Given the description of an element on the screen output the (x, y) to click on. 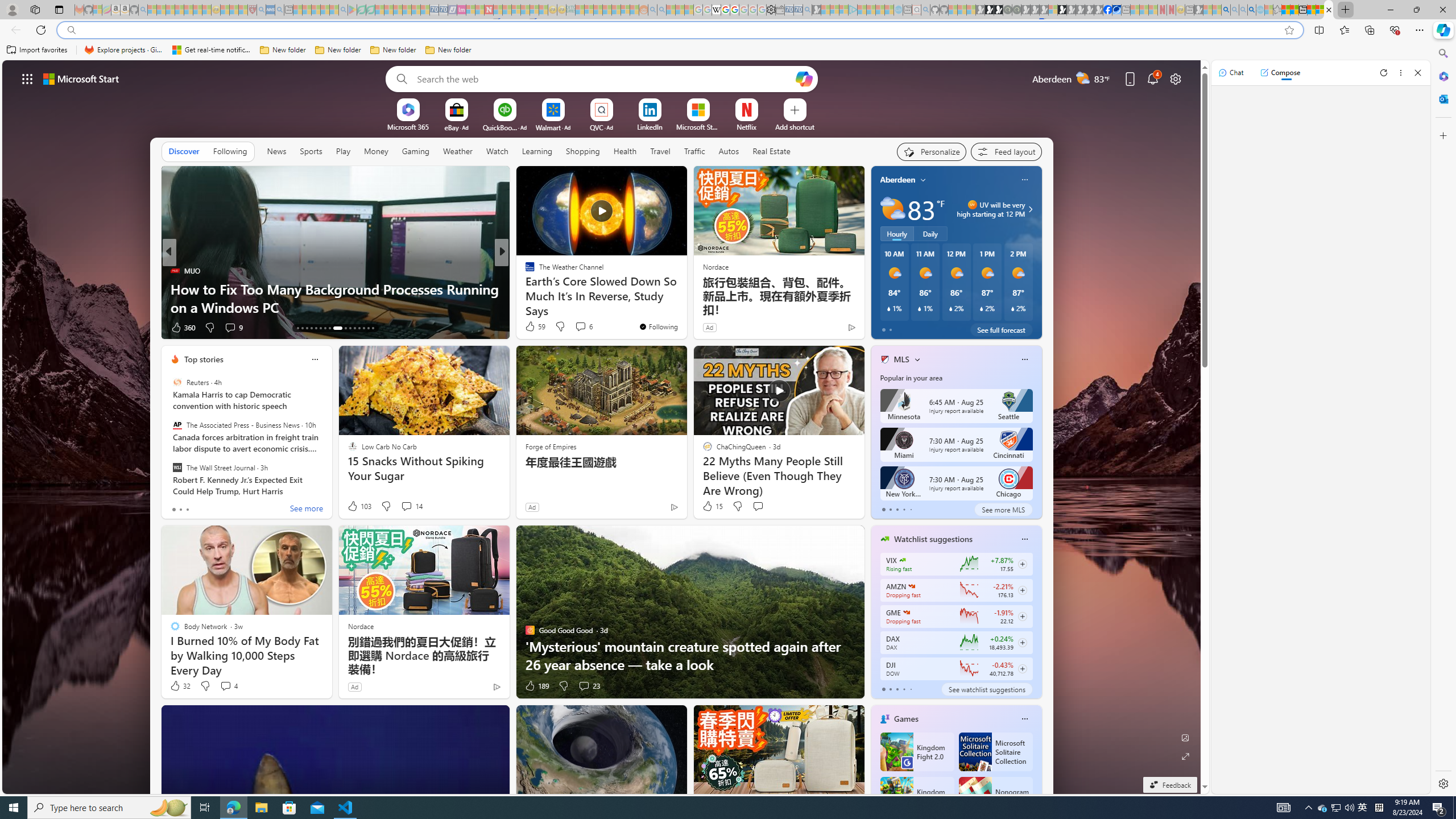
59 Like (534, 326)
Hourly (896, 233)
Google Chrome Internet Browser Download - Search Images (1251, 9)
View comments 23 Comment (583, 685)
tab-2 (897, 689)
